Given the description of an element on the screen output the (x, y) to click on. 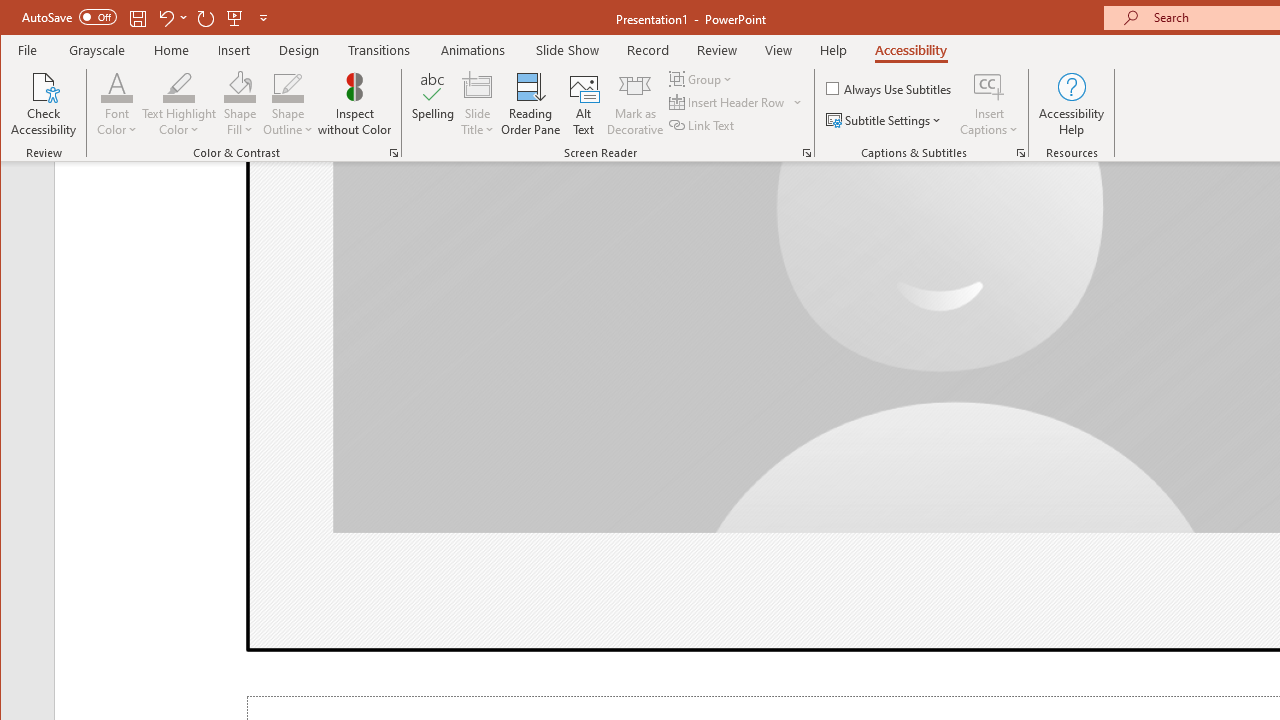
Inspect without Color (355, 104)
Insert Captions (989, 86)
Insert Header Row (728, 101)
Insert Header Row (735, 101)
Insert Captions (989, 104)
Accessibility Help (1071, 104)
Captions & Subtitles (1020, 152)
